Given the description of an element on the screen output the (x, y) to click on. 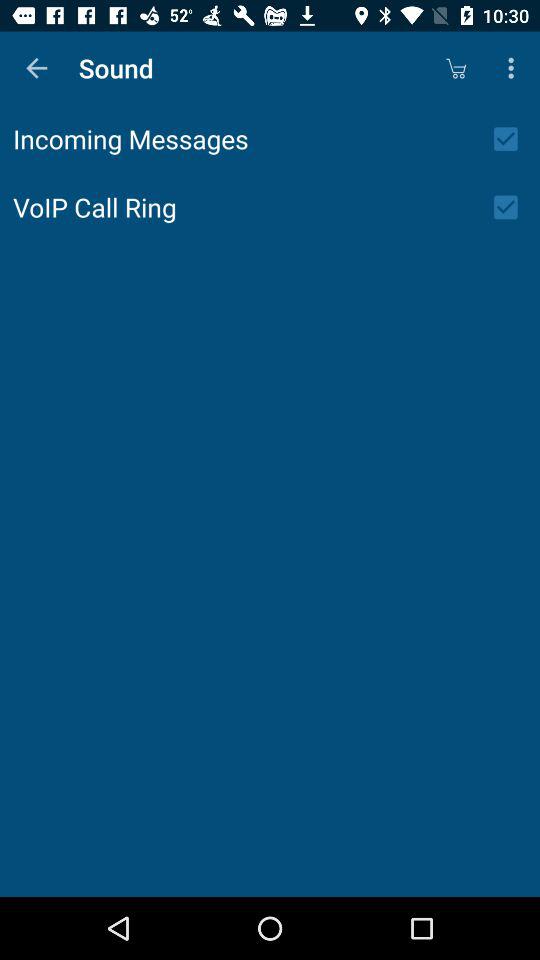
disable sound of incoming messages (512, 139)
